Given the description of an element on the screen output the (x, y) to click on. 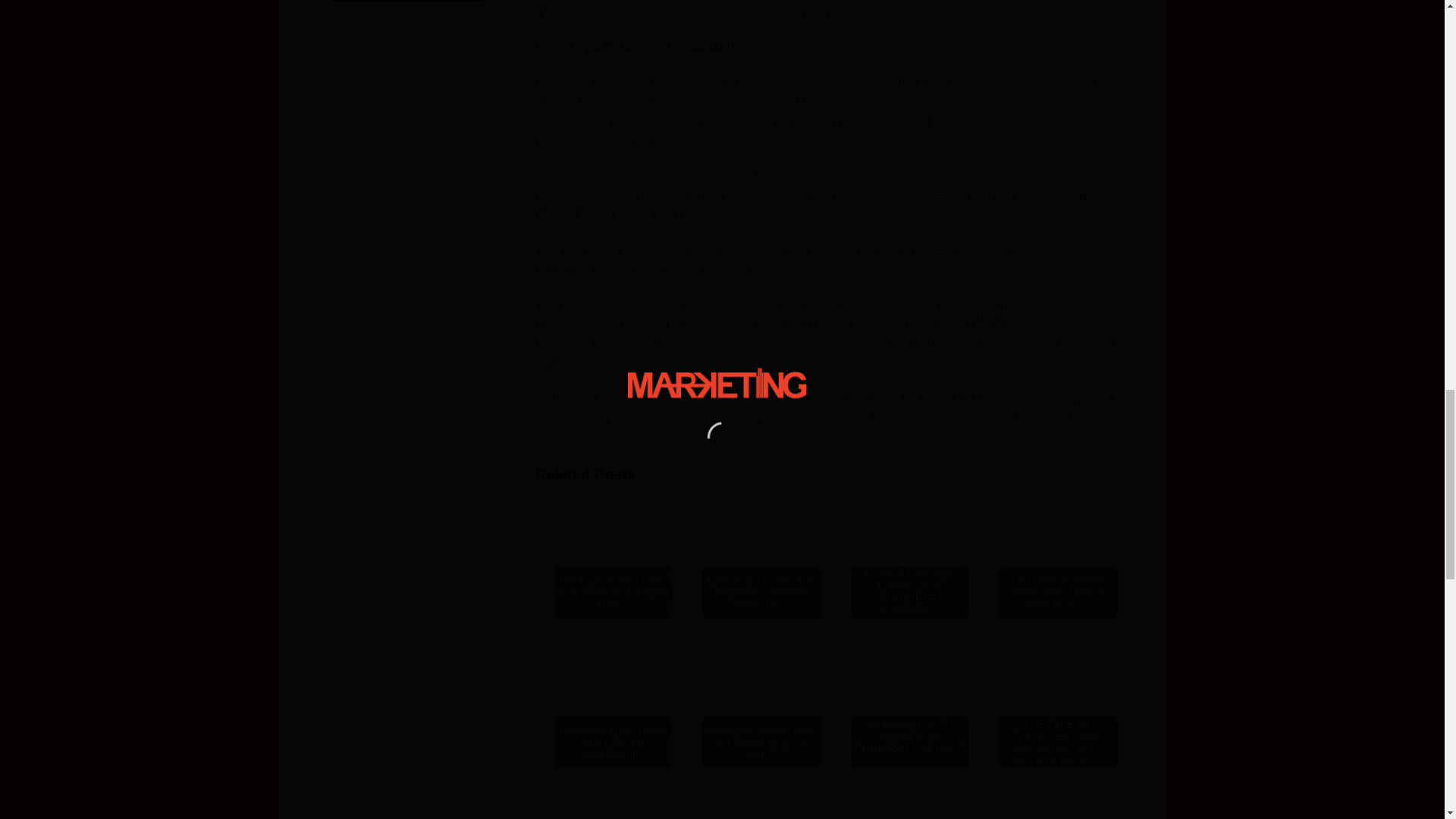
The Rise of Muslim Consumerism (406, 5)
